Given the description of an element on the screen output the (x, y) to click on. 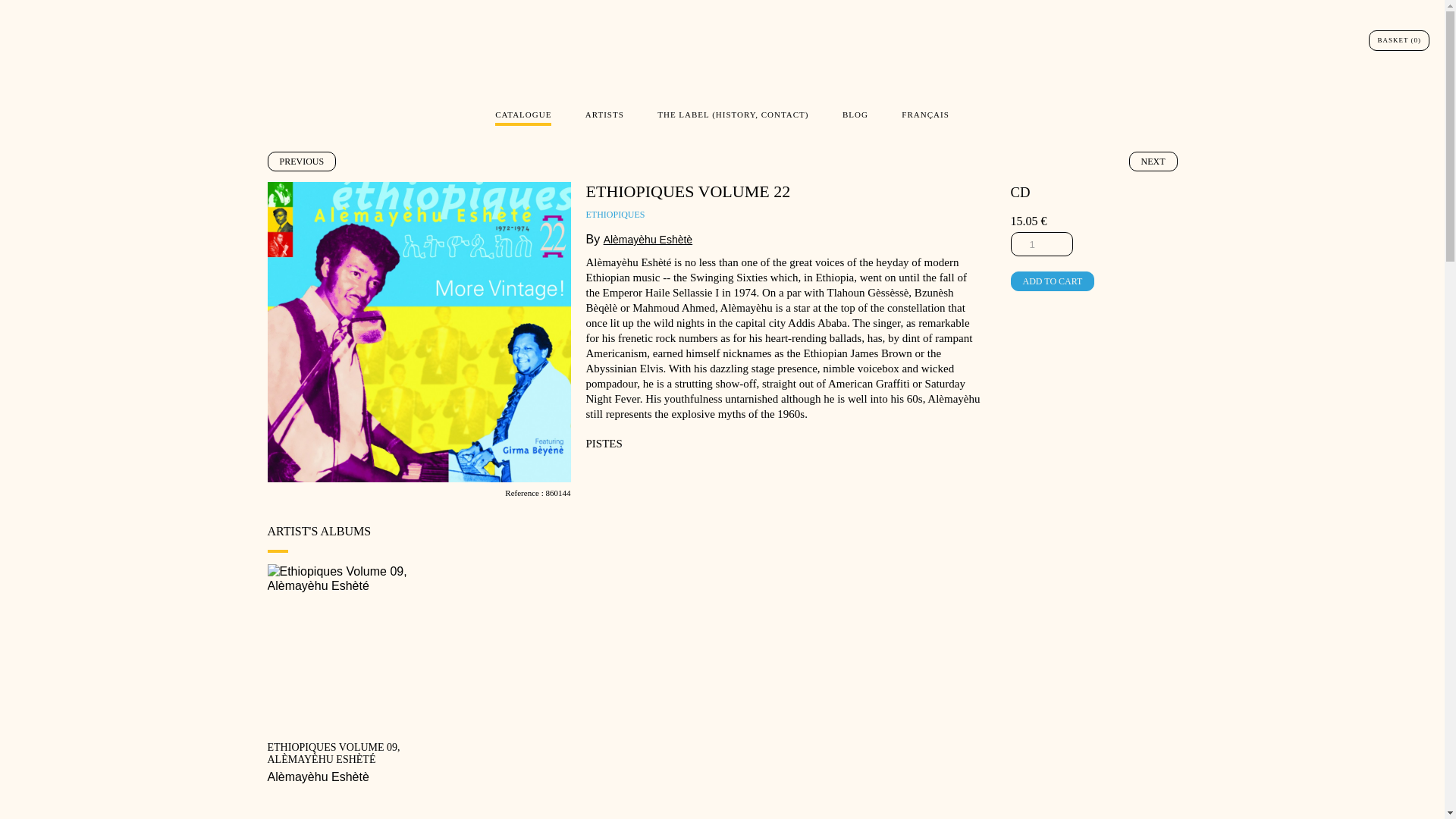
CATALOGUE (523, 117)
BLOG (855, 115)
ARTISTS (604, 115)
NEXT (1152, 161)
Buda Musique (721, 60)
ADD TO CART (1052, 281)
PREVIOUS (301, 161)
